Given the description of an element on the screen output the (x, y) to click on. 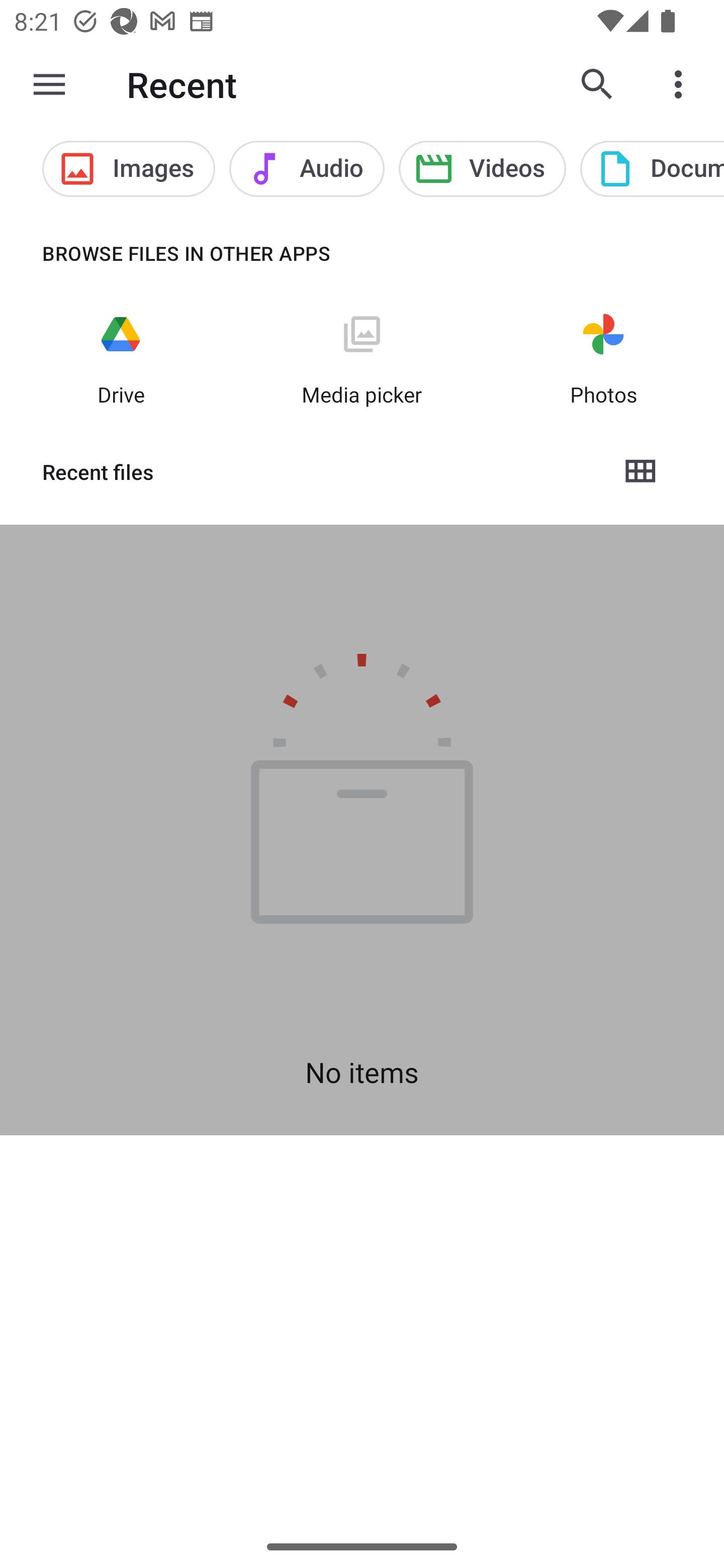
Show roots (49, 84)
Search (597, 84)
More options (681, 84)
Images (128, 169)
Audio (306, 169)
Videos (482, 169)
Documents (651, 169)
Drive (120, 356)
Media picker (361, 356)
Photos (603, 356)
Grid view (639, 471)
